Given the description of an element on the screen output the (x, y) to click on. 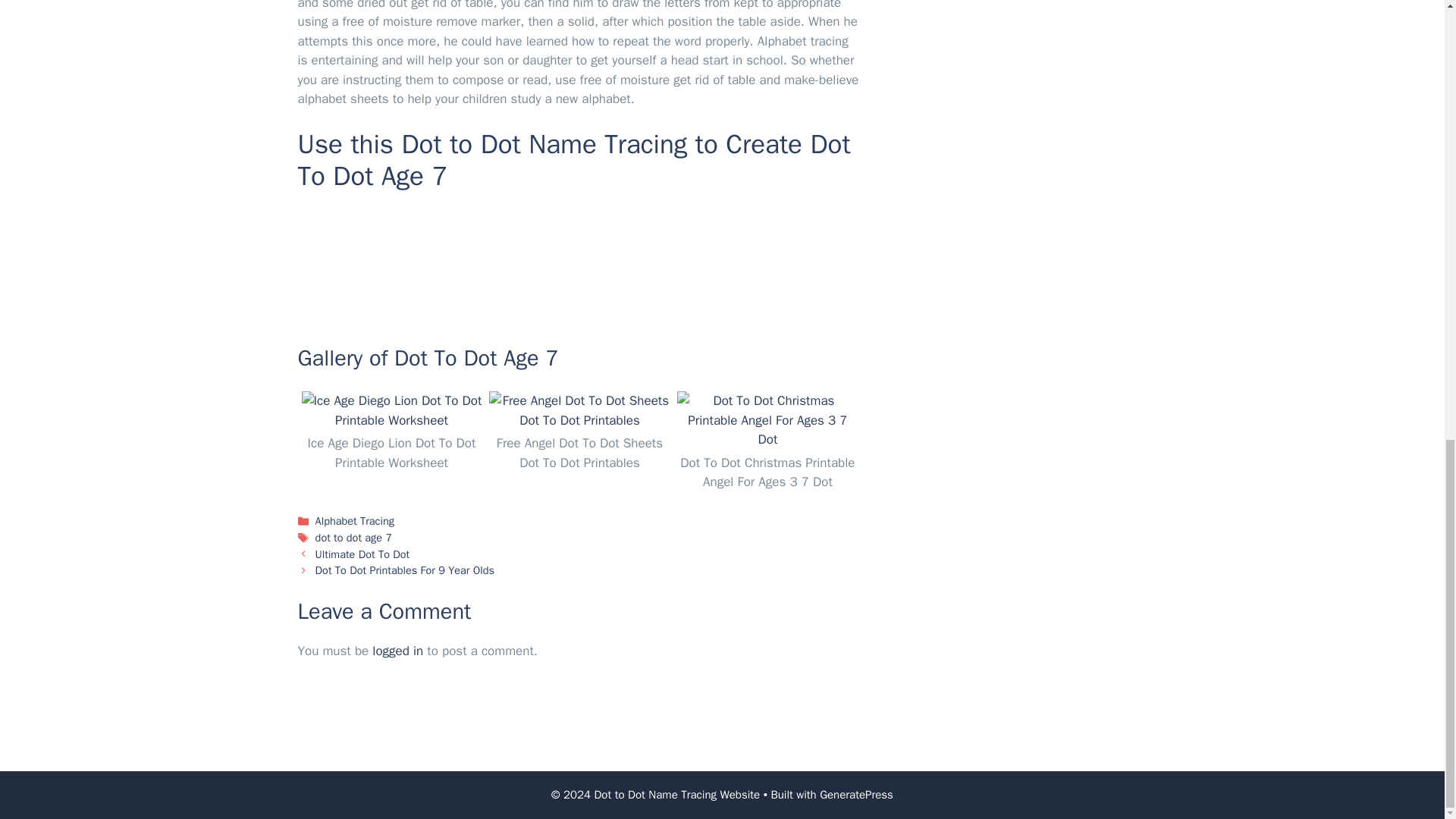
GeneratePress (856, 794)
Handwriting Worksheet (579, 264)
Alphabet Tracing (354, 520)
Dot To Dot Printables For 9 Year Olds (405, 570)
logged in (397, 650)
dot to dot age 7 (354, 537)
Ultimate Dot To Dot (362, 554)
